Given the description of an element on the screen output the (x, y) to click on. 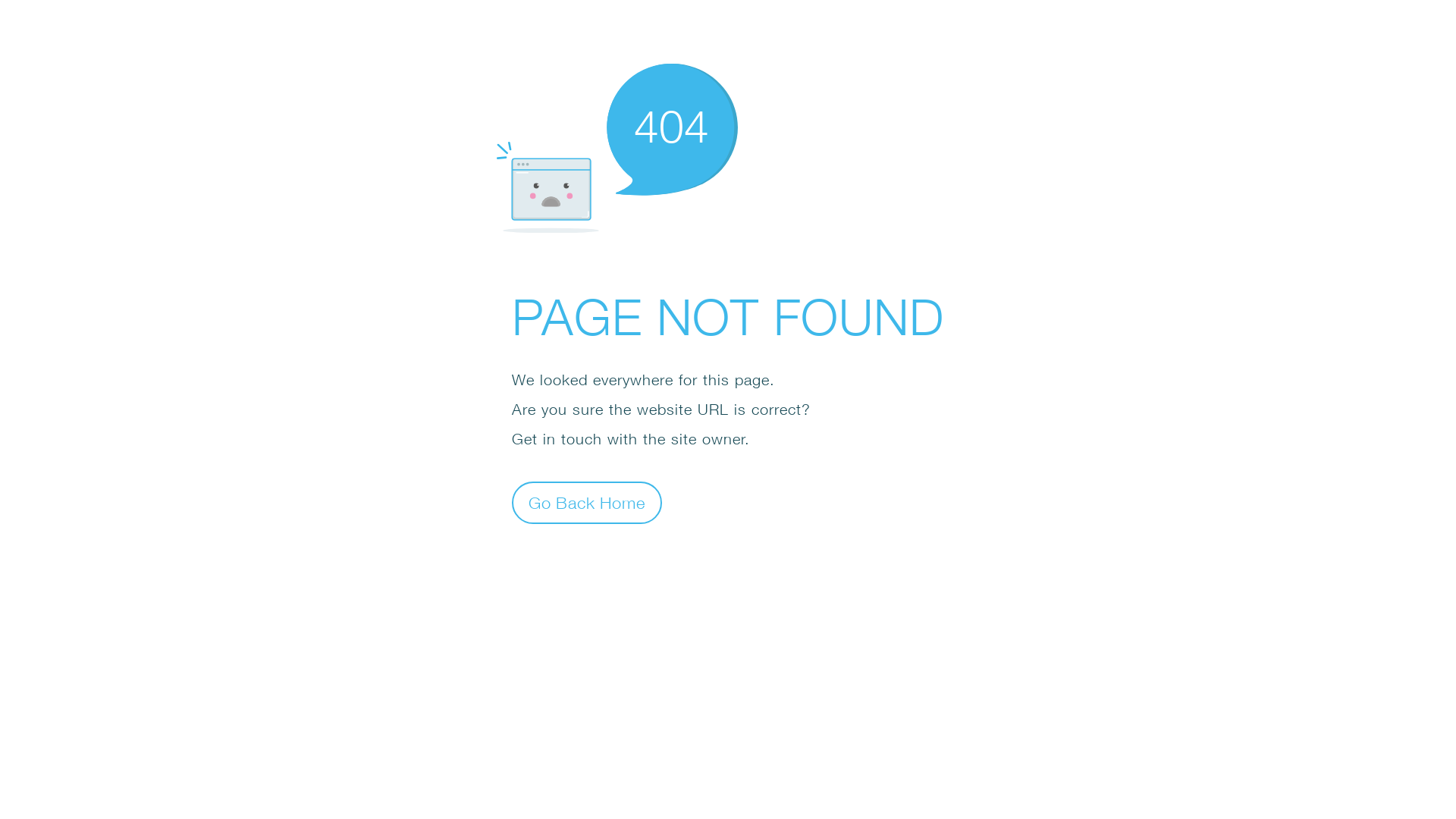
Go Back Home Element type: text (586, 502)
